Given the description of an element on the screen output the (x, y) to click on. 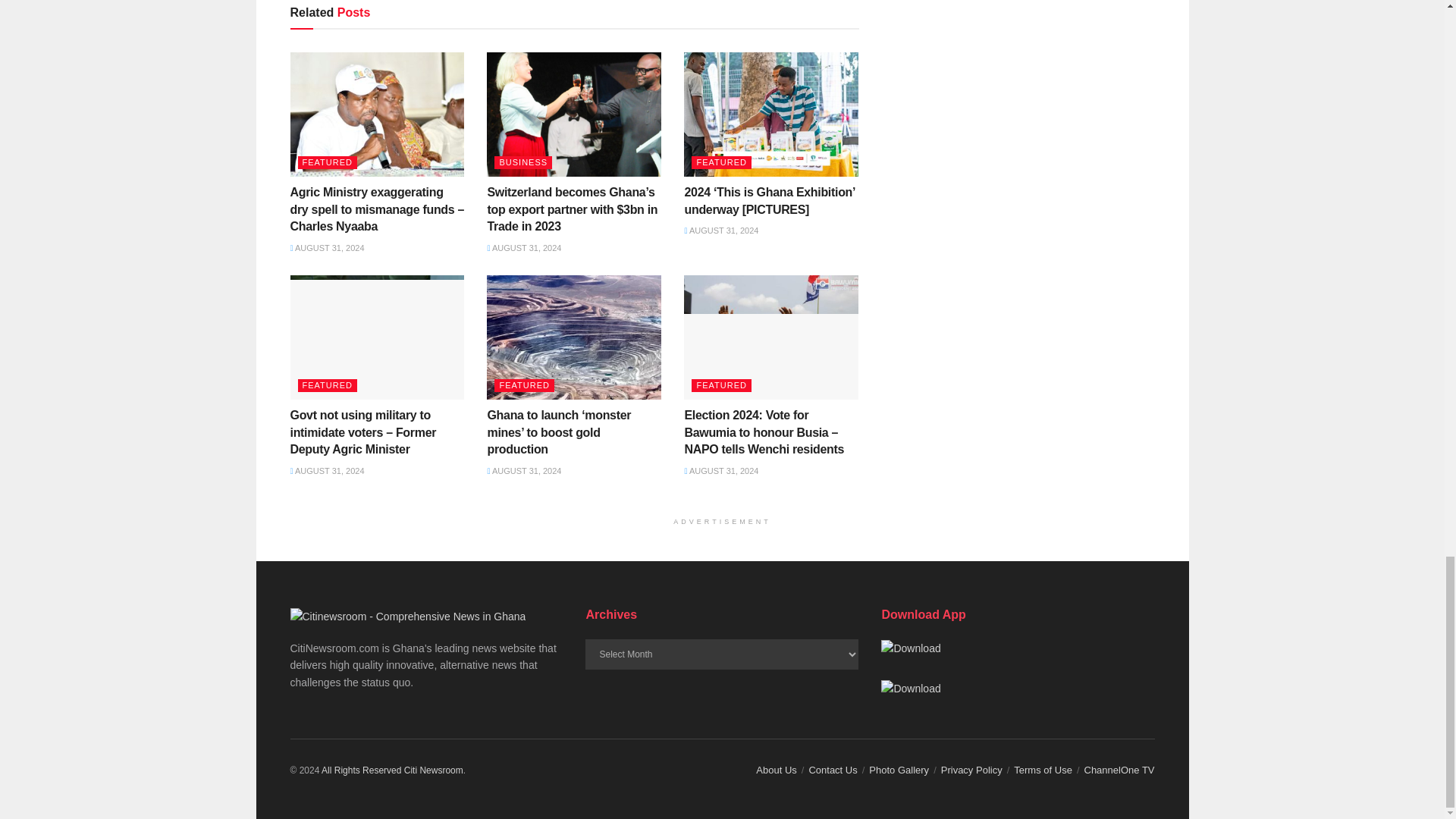
Citi Newsroom (433, 769)
App Store (910, 688)
Citi Newsroom (361, 769)
Google Play (910, 647)
